Given the description of an element on the screen output the (x, y) to click on. 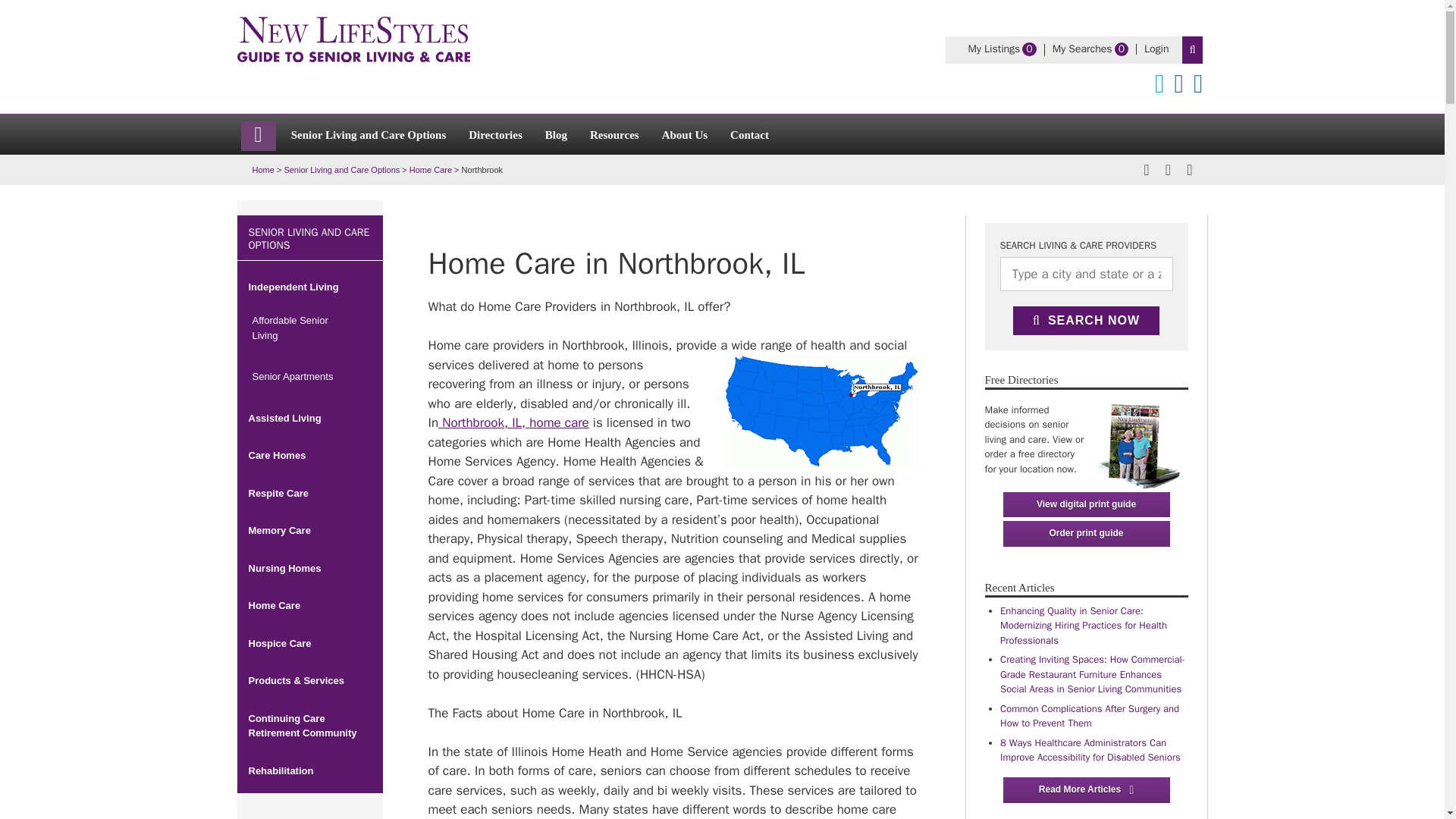
Senior Living and Care Options (994, 48)
Blog (340, 169)
Resources (556, 133)
Home Care (614, 133)
Login (430, 169)
directory (1156, 48)
About Us (1082, 48)
Senior Living and Care Options (1137, 441)
